Given the description of an element on the screen output the (x, y) to click on. 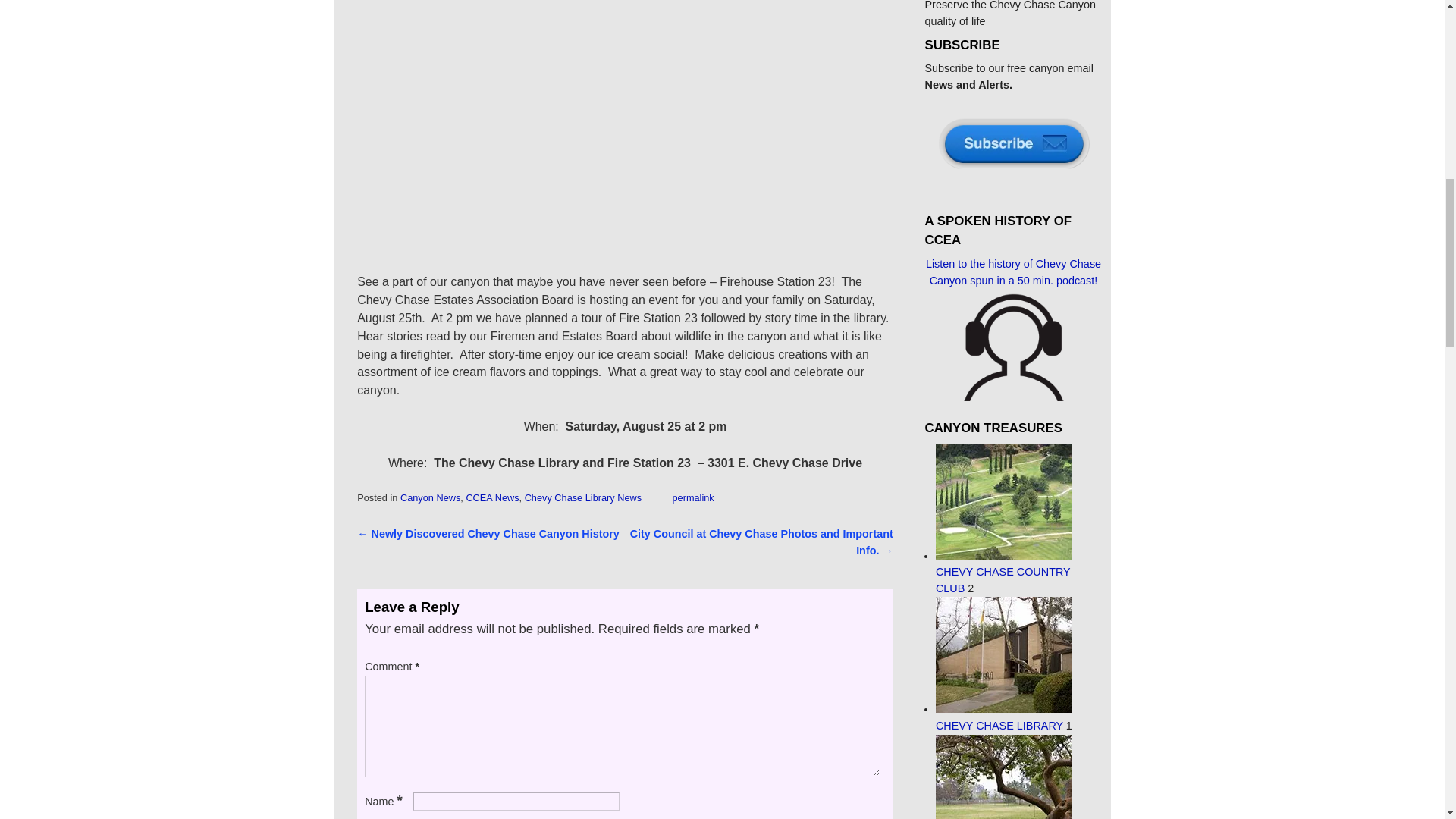
CCEA News (491, 497)
CHEVY CHASE COUNTRY CLUB (1003, 571)
permalink (692, 497)
Canyon News (430, 497)
Chevy Chase Library News (583, 497)
